Given the description of an element on the screen output the (x, y) to click on. 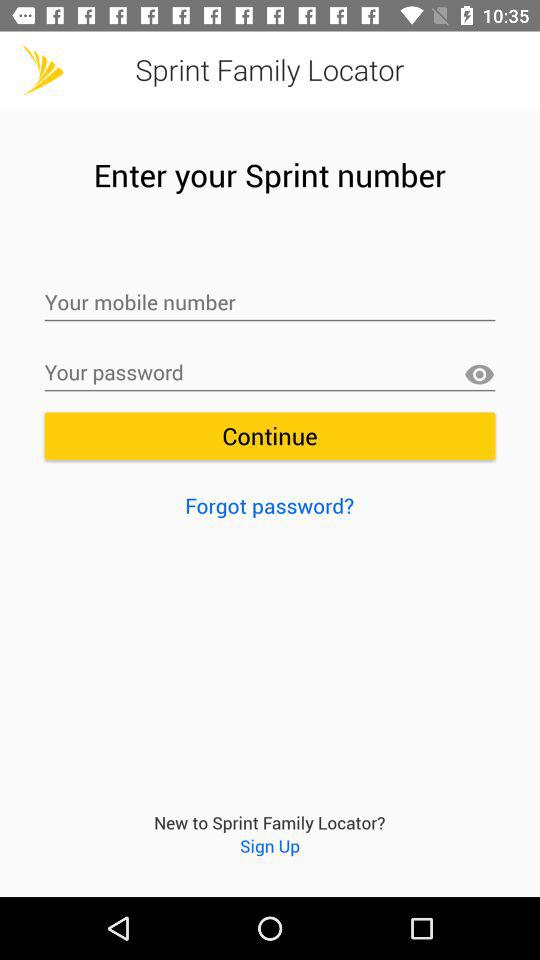
view password (479, 374)
